Given the description of an element on the screen output the (x, y) to click on. 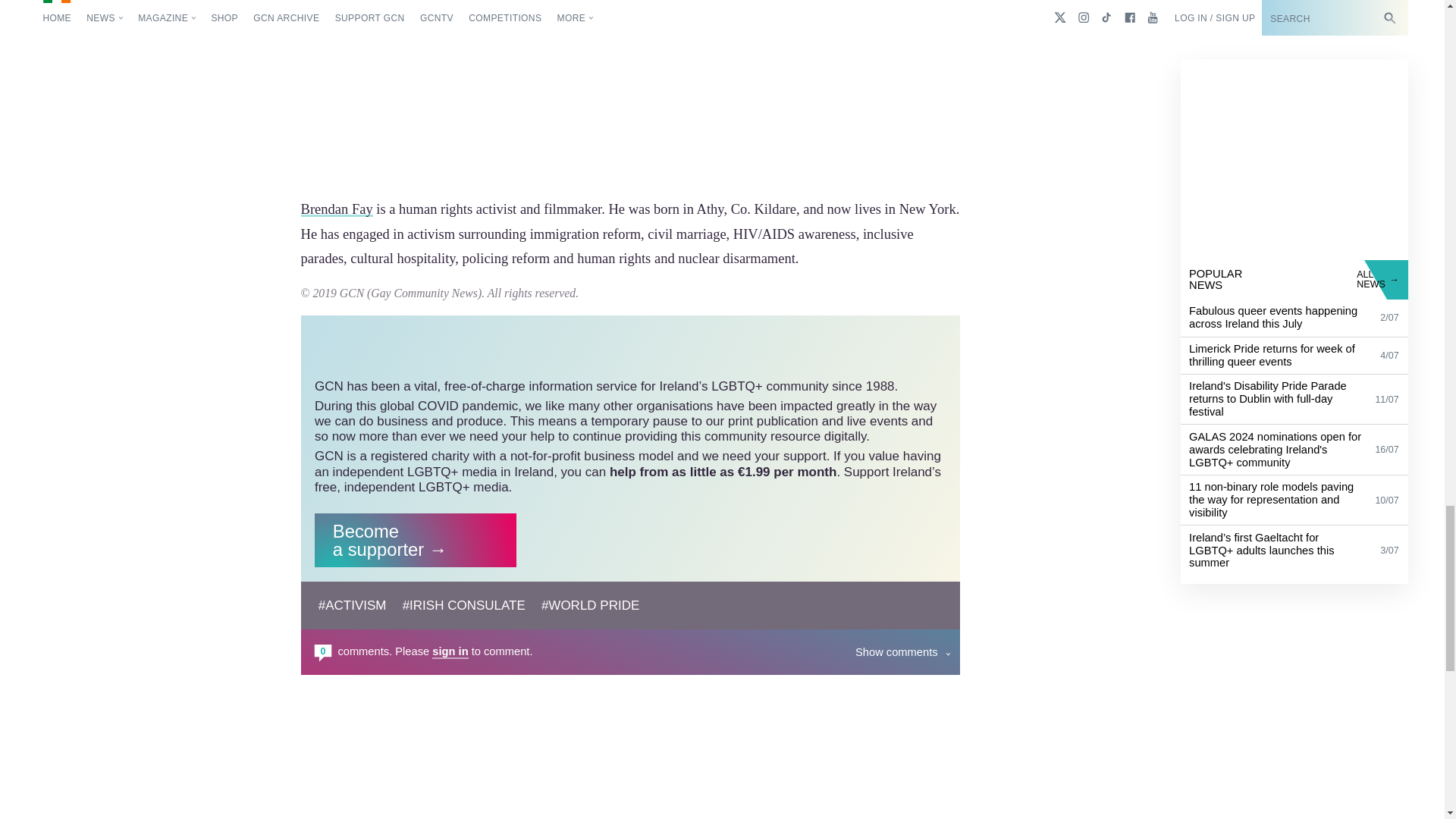
0 (322, 651)
